Given the description of an element on the screen output the (x, y) to click on. 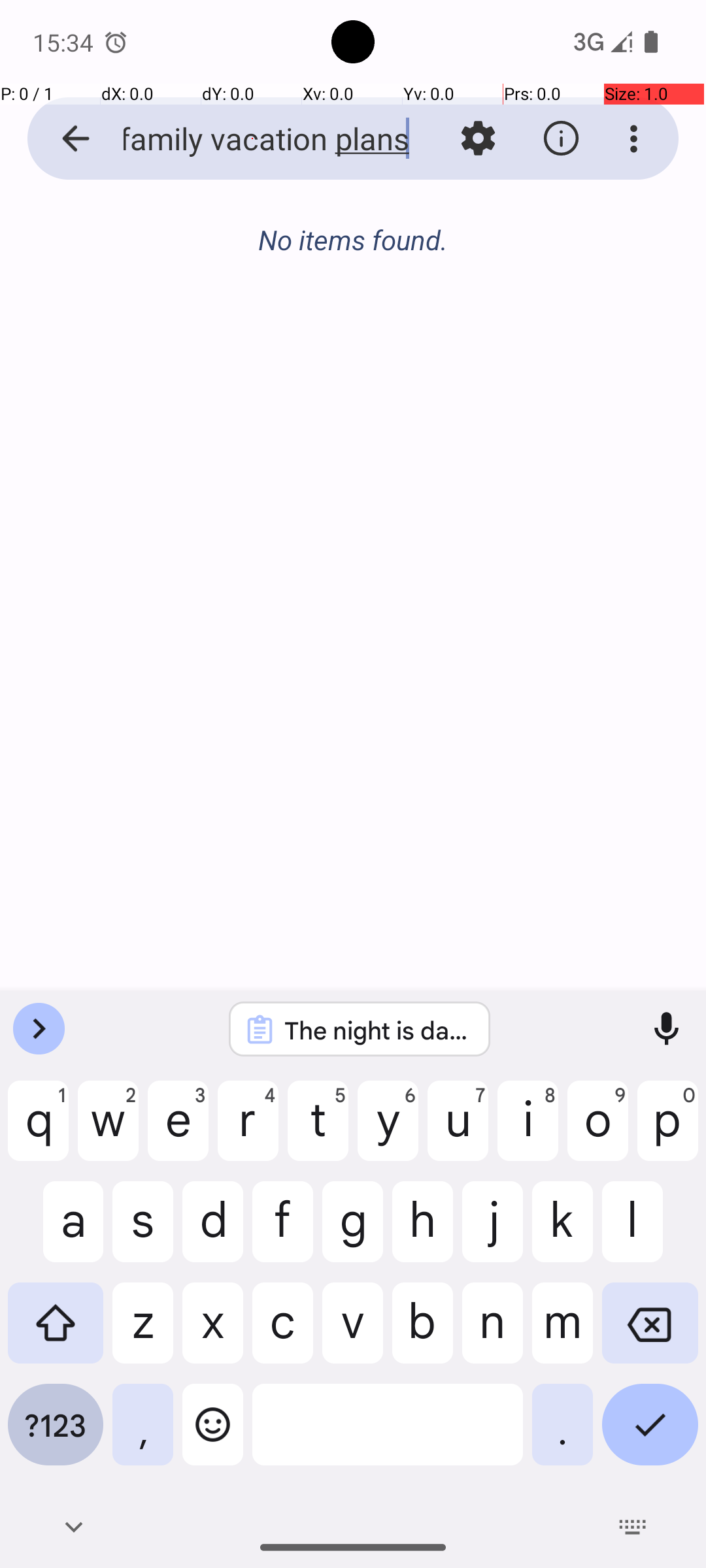
family vacation plans Element type: android.widget.EditText (252, 138)
The night is dark and full of terrors. Element type: android.widget.TextView (376, 1029)
